Given the description of an element on the screen output the (x, y) to click on. 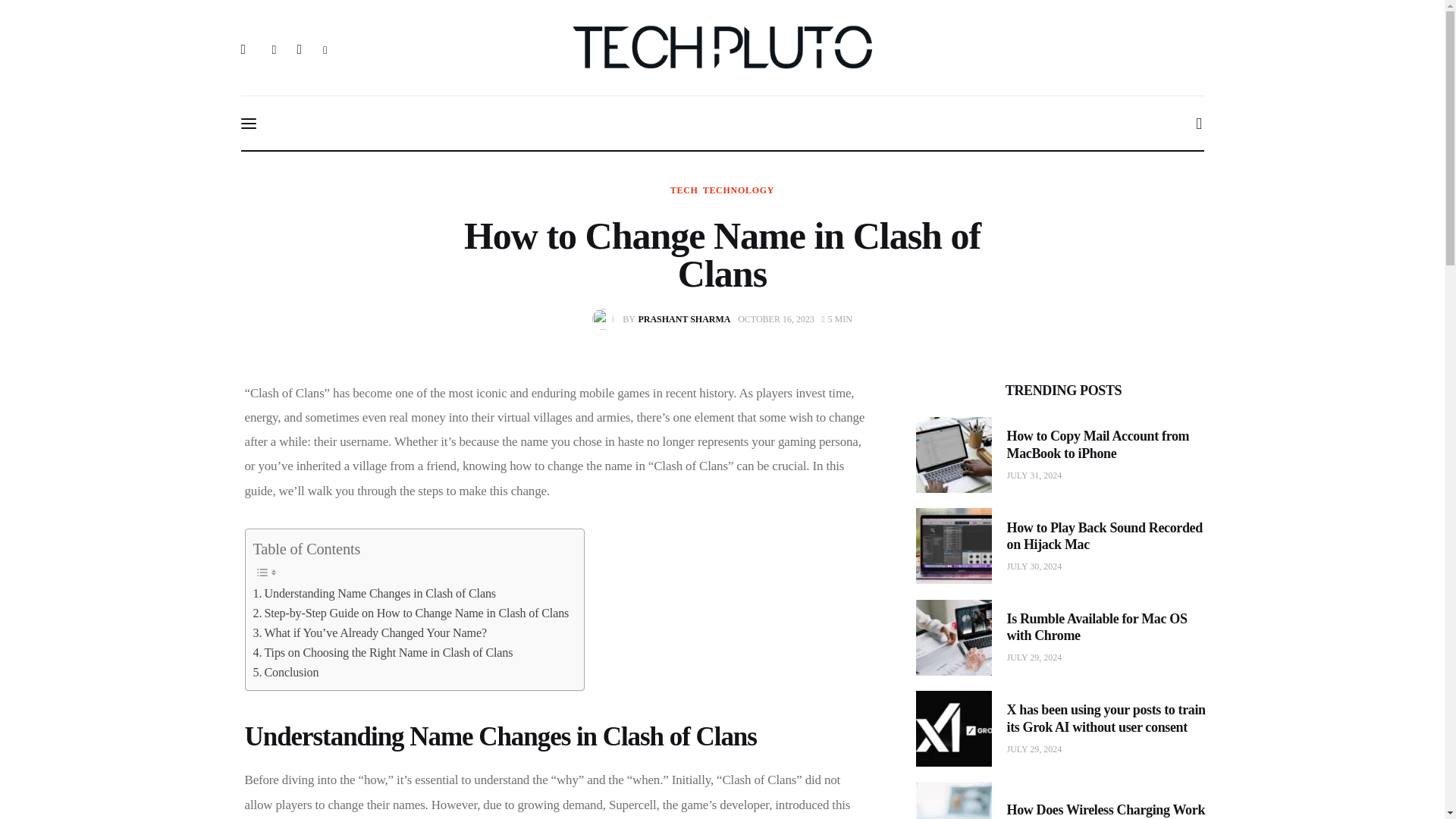
TECH (683, 190)
Tips on Choosing the Right Name in Clash of Clans (383, 652)
Conclusion (285, 672)
TECHNOLOGY (738, 190)
5 MIN (836, 318)
Step-by-Step Guide on How to Change Name in Clash of Clans (411, 613)
Understanding Name Changes in Clash of Clans (374, 593)
